Given the description of an element on the screen output the (x, y) to click on. 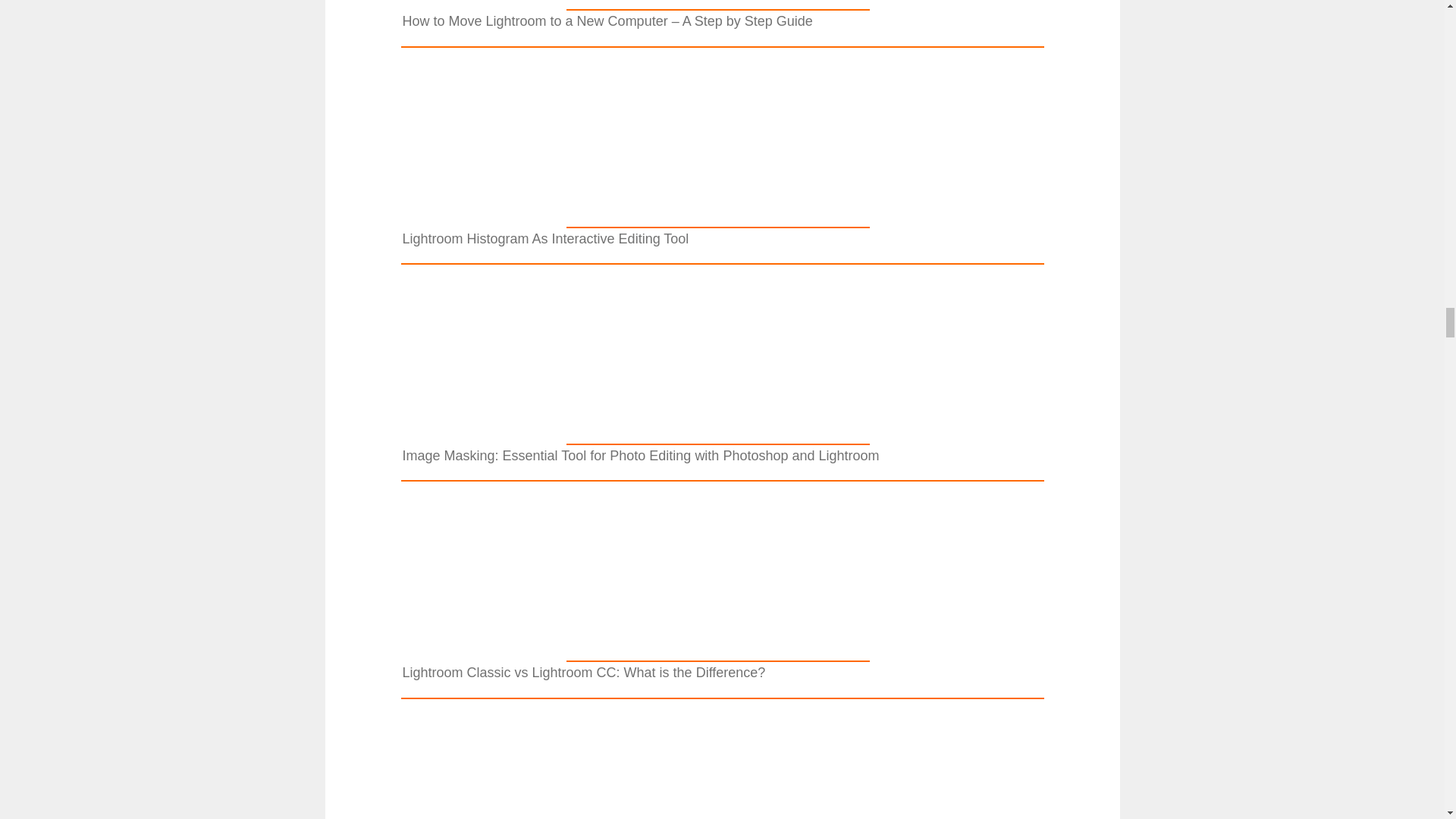
Lightroom Histogram As Interactive Editing Tool (717, 218)
Lightroom Classic vs Lightroom CC: What is the Difference? (717, 651)
